Given the description of an element on the screen output the (x, y) to click on. 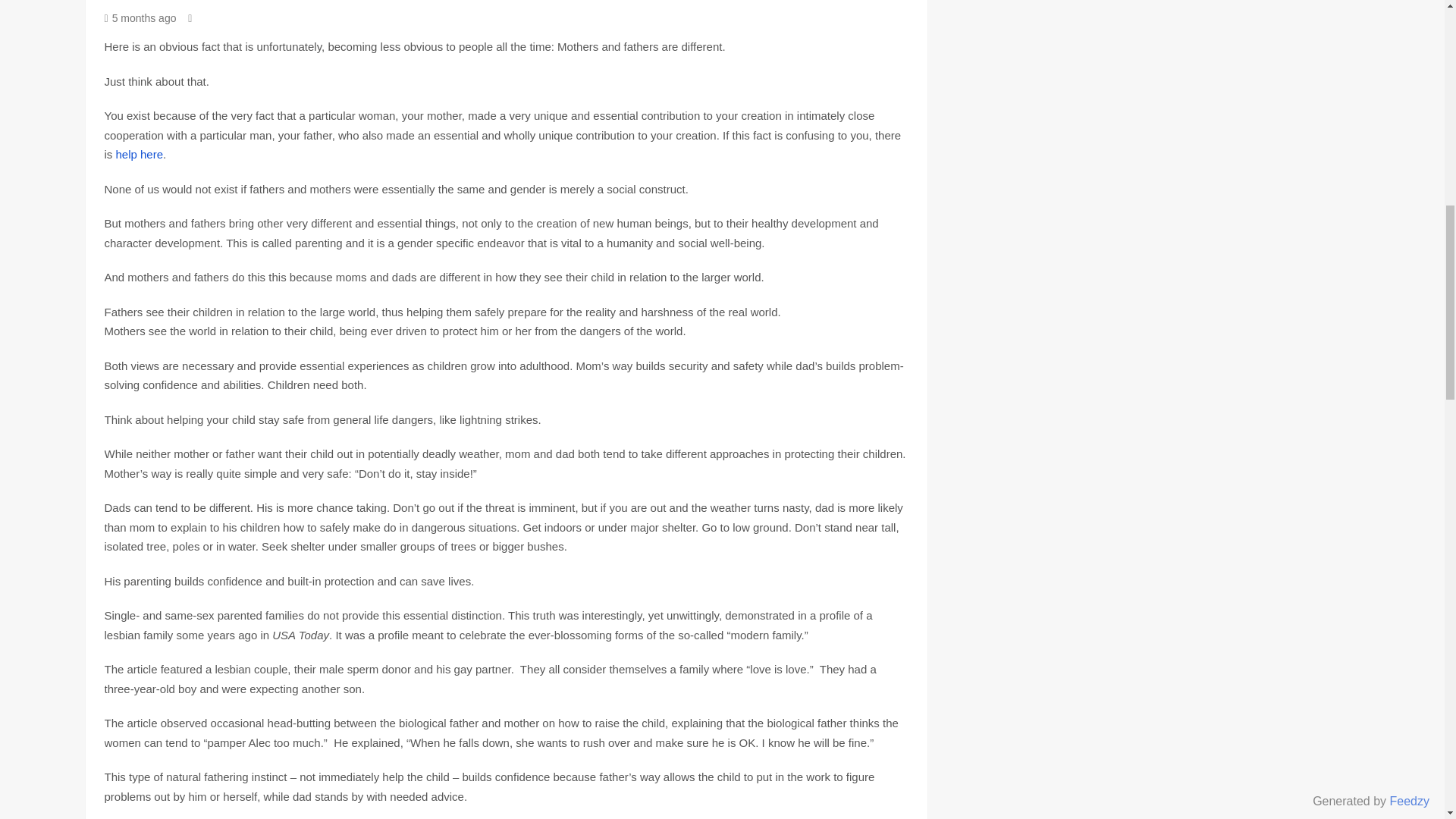
5 months ago (140, 18)
help here (139, 154)
